Given the description of an element on the screen output the (x, y) to click on. 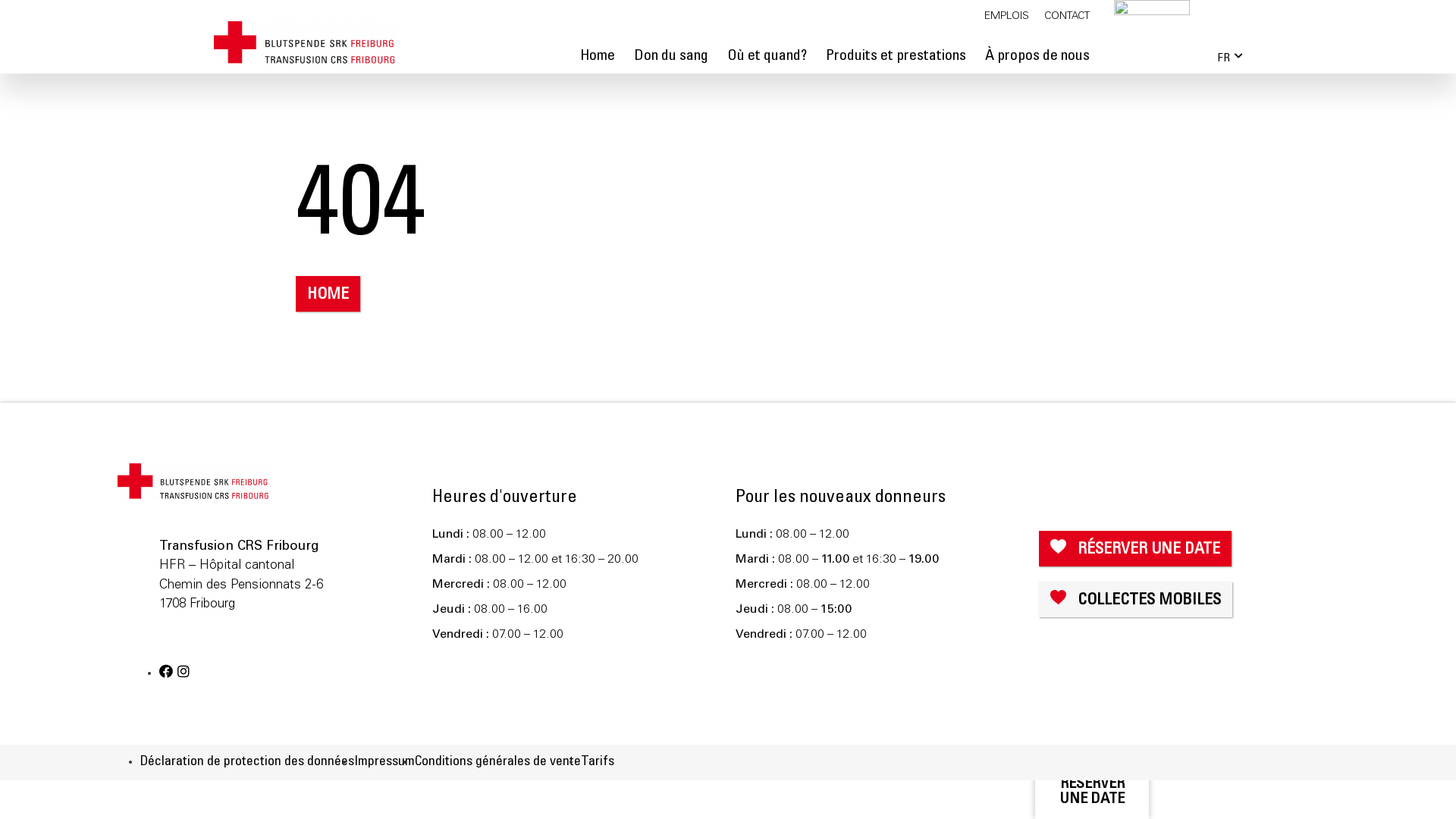
Don du sang Element type: text (670, 56)
Impressum Element type: text (384, 761)
Home Element type: text (597, 56)
Tarifs Element type: text (597, 761)
COLLECTES MOBILES Element type: text (1135, 599)
FR Element type: text (1221, 57)
Produits et prestations Element type: text (895, 56)
CONTACT Element type: text (1066, 16)
HOME Element type: text (327, 293)
EMPLOIS Element type: text (1006, 16)
